Given the description of an element on the screen output the (x, y) to click on. 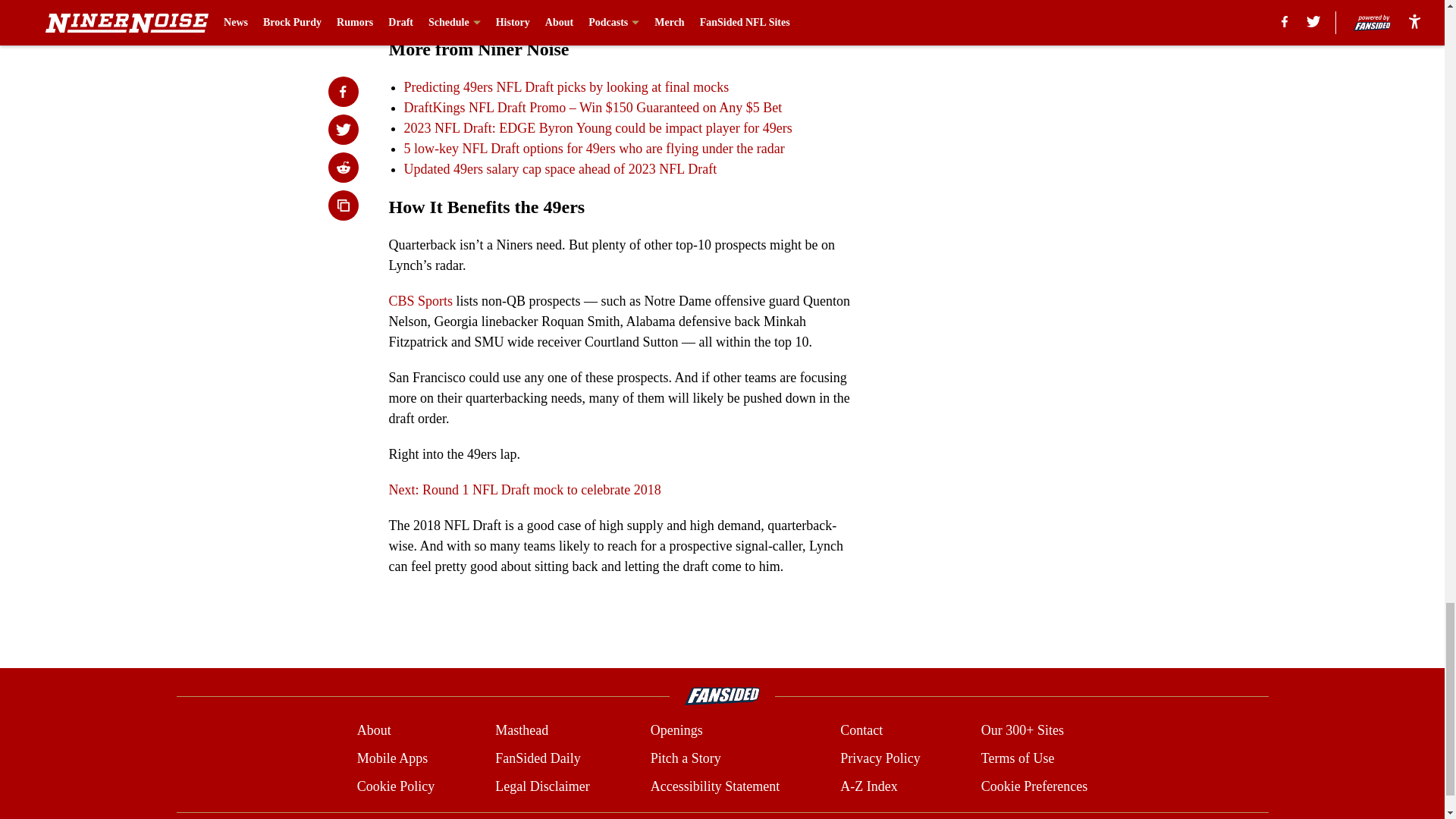
Predicting 49ers NFL Draft picks by looking at final mocks (566, 87)
Next: Round 1 NFL Draft mock to celebrate 2018 (524, 489)
CBS Sports (420, 300)
Updated 49ers salary cap space ahead of 2023 NFL Draft (559, 168)
Masthead (521, 730)
Contact (861, 730)
About (373, 730)
Openings (676, 730)
Mobile Apps (392, 758)
